Given the description of an element on the screen output the (x, y) to click on. 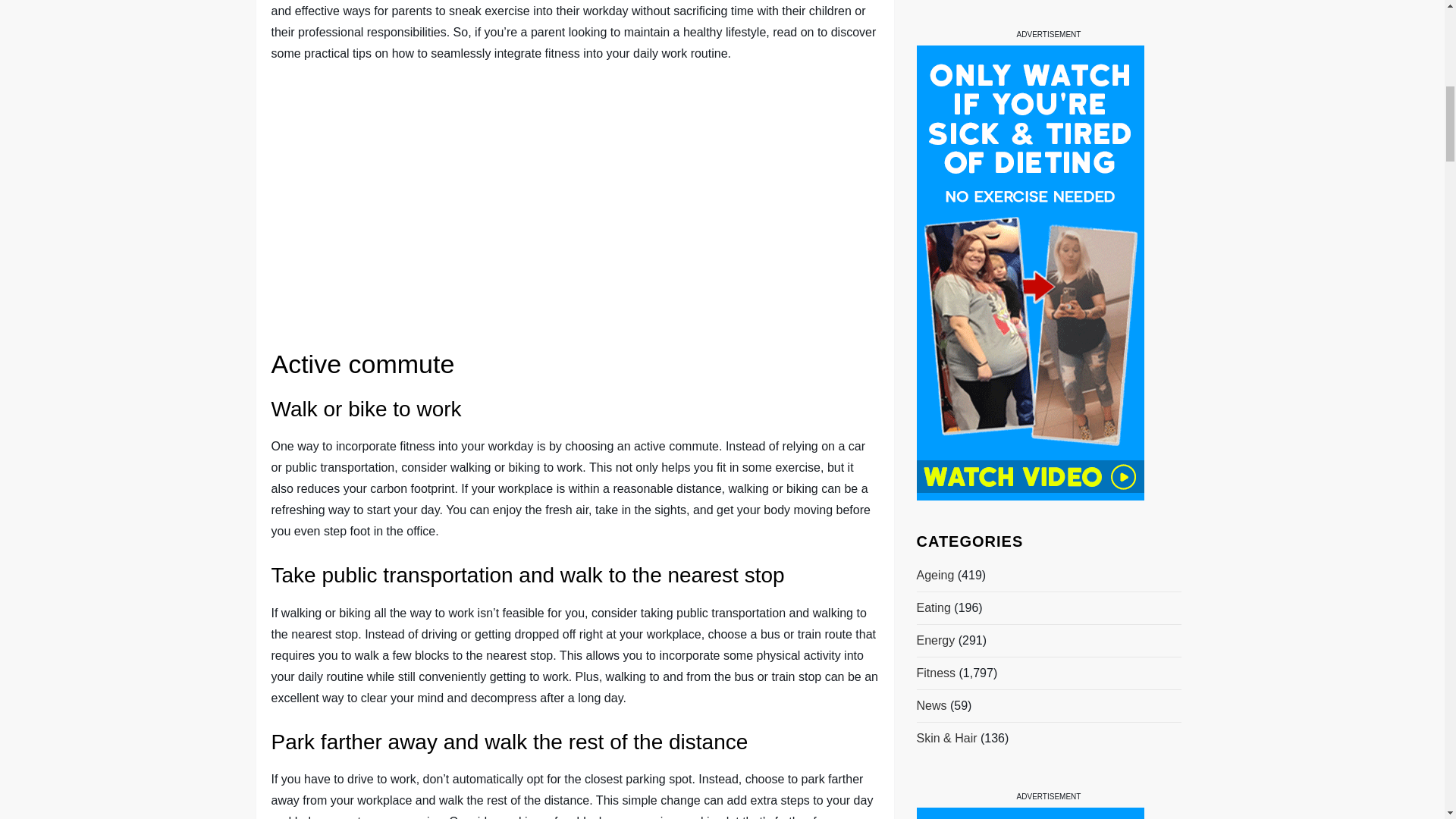
News (930, 46)
Fitness (935, 13)
